Given the description of an element on the screen output the (x, y) to click on. 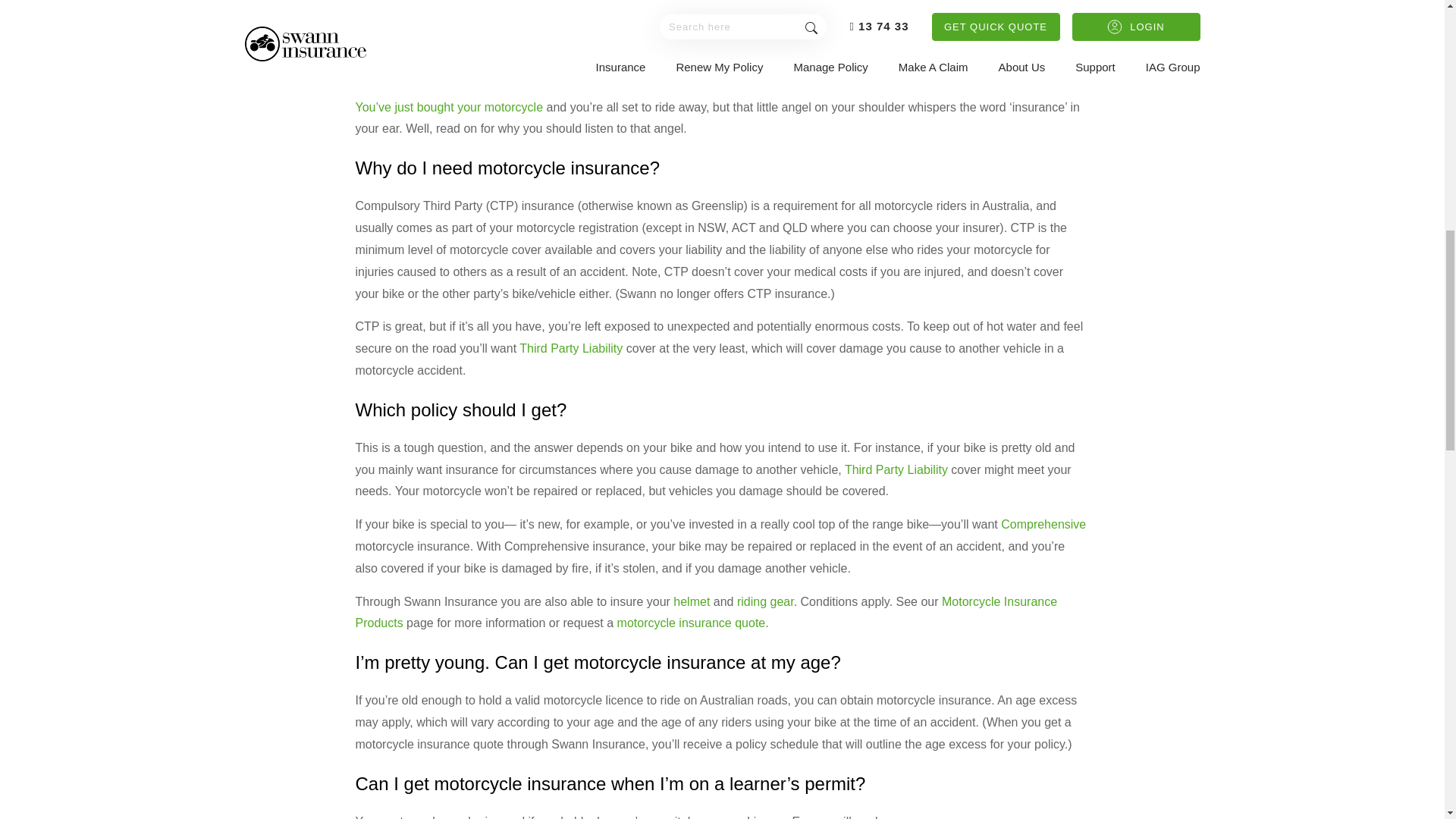
Third Party Liability (571, 348)
Third Party Liability (895, 469)
